Given the description of an element on the screen output the (x, y) to click on. 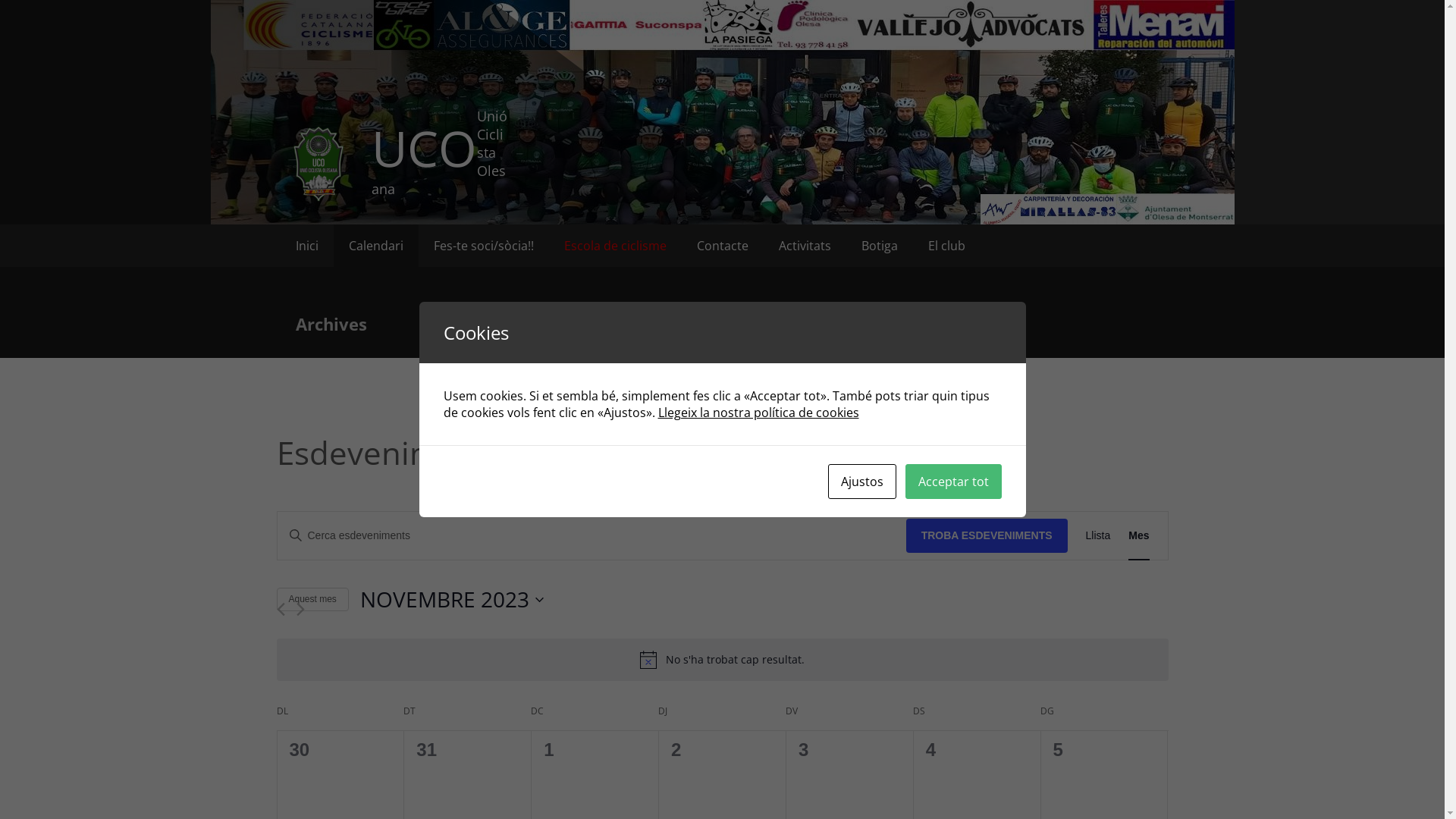
Inici Element type: text (306, 245)
Llista Element type: text (1097, 535)
NOVEMBRE 2023 Element type: text (764, 599)
Escola de ciclisme Element type: text (615, 245)
UCO Element type: text (423, 147)
Calendari Element type: text (375, 245)
Esdeveniments Element type: text (389, 452)
Mes Element type: text (1138, 535)
Ajustos Element type: text (862, 481)
Contacte Element type: text (721, 245)
Activitats Element type: text (803, 245)
Aquest mes Element type: text (312, 599)
Botiga Element type: text (879, 245)
El club Element type: text (946, 245)
Mes anterior Element type: hover (280, 609)
Acceptar tot Element type: text (953, 481)
TROBA ESDEVENIMENTS Element type: text (986, 535)
